Given the description of an element on the screen output the (x, y) to click on. 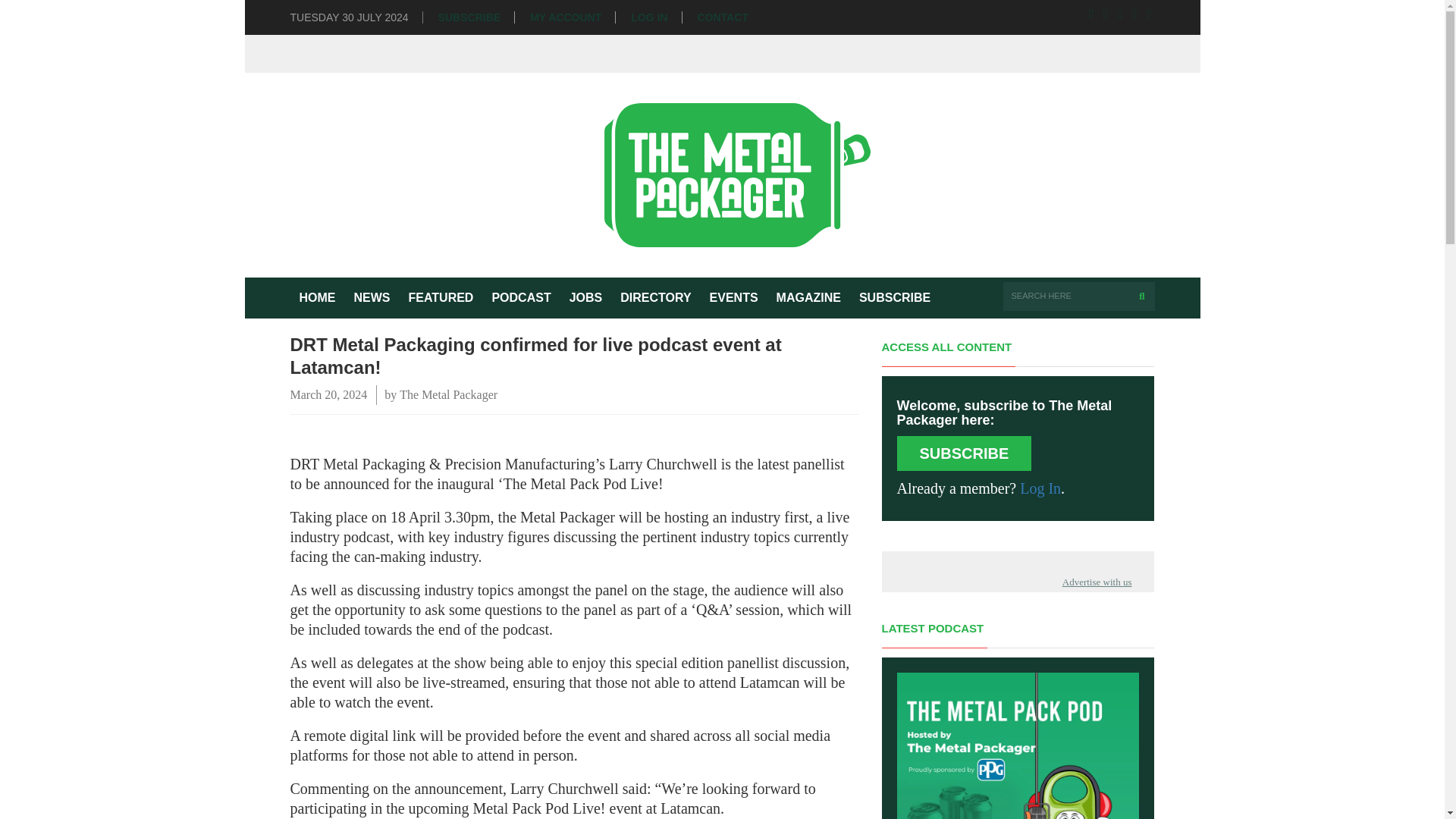
EVENTS (733, 297)
Directory (655, 297)
Posts by The Metal Packager (447, 394)
Jobs (585, 297)
CONTACT (722, 17)
NEWS (370, 297)
MY ACCOUNT (565, 17)
Subscribe (894, 297)
The Metal Packager (447, 394)
Featured (439, 297)
The Metal Packager (722, 174)
SUBSCRIBE (469, 17)
JOBS (585, 297)
Magazine (808, 297)
DIRECTORY (655, 297)
